Given the description of an element on the screen output the (x, y) to click on. 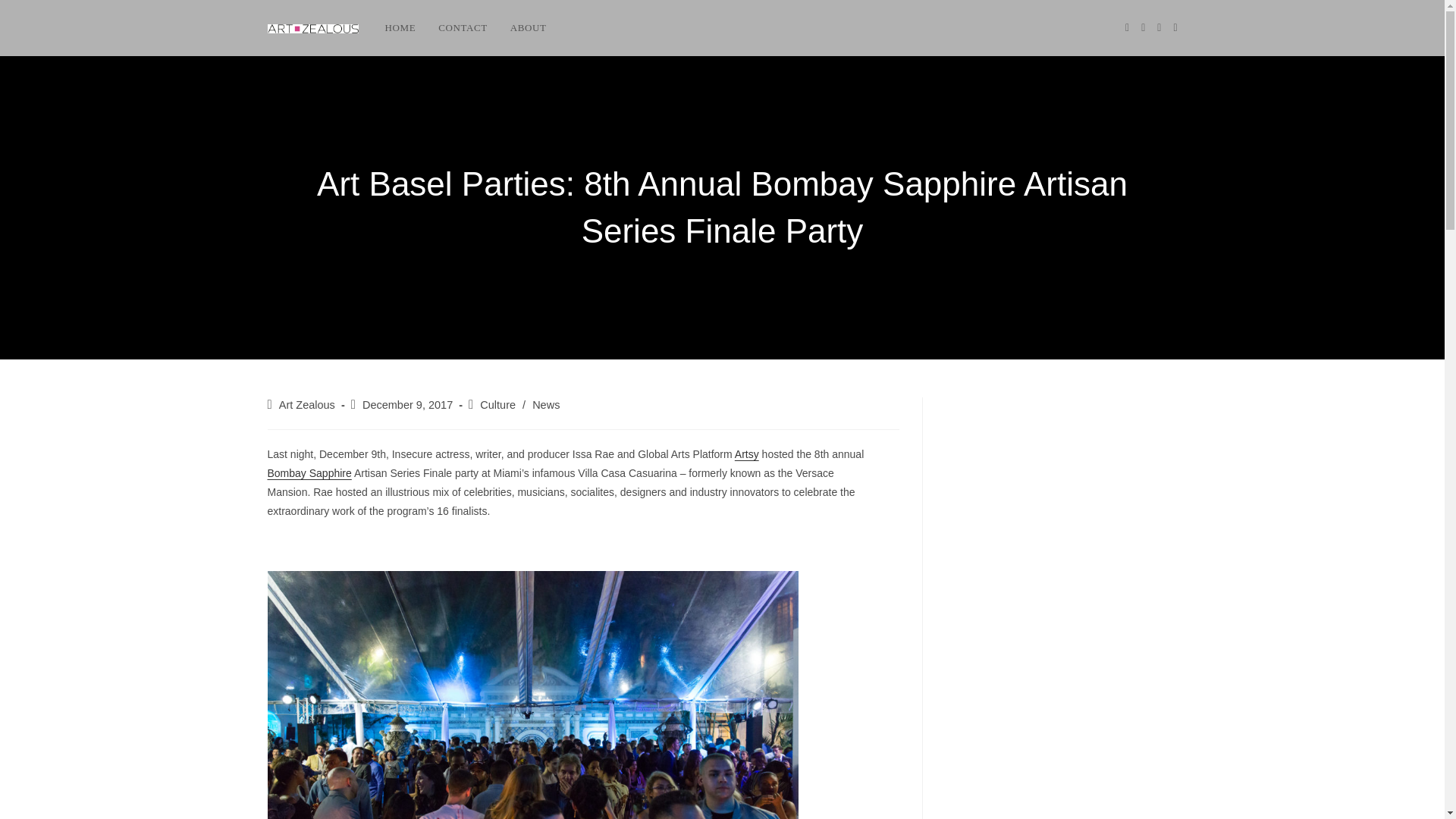
HOME (399, 28)
Posts by Art Zealous (306, 404)
News (545, 404)
Culture (497, 404)
ABOUT (528, 28)
Artsy (746, 453)
CONTACT (462, 28)
Art Zealous (306, 404)
Bombay Sapphire (308, 472)
